Given the description of an element on the screen output the (x, y) to click on. 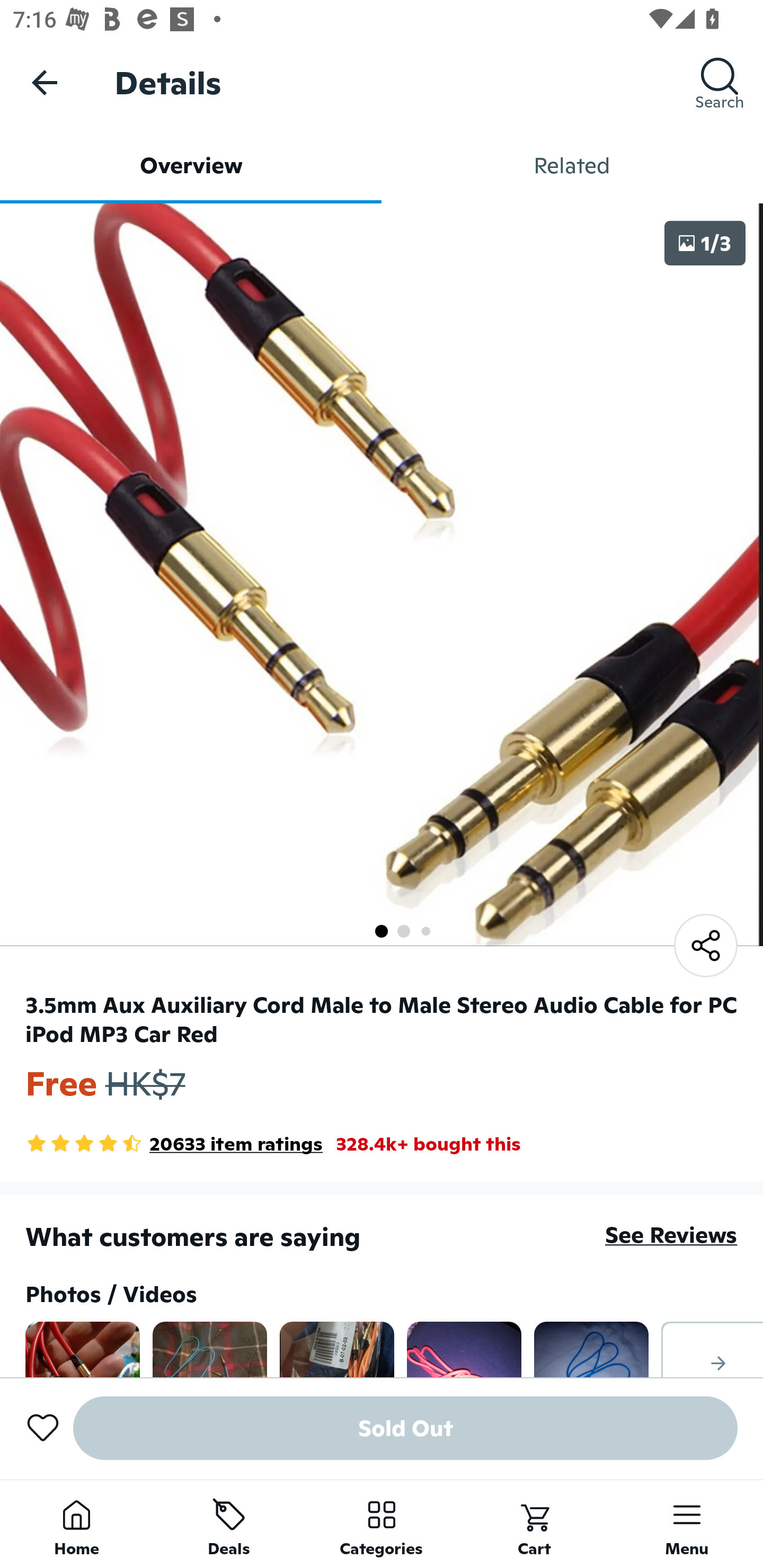
Navigate up (44, 82)
Search (719, 82)
Related (572, 165)
1/3 (705, 242)
4.3 Star Rating 20633 item ratings (174, 1143)
See Reviews (671, 1234)
Right arrow (712, 1348)
Sold Out (405, 1428)
Home (76, 1523)
Deals (228, 1523)
Categories (381, 1523)
Cart (533, 1523)
Menu (686, 1523)
